Given the description of an element on the screen output the (x, y) to click on. 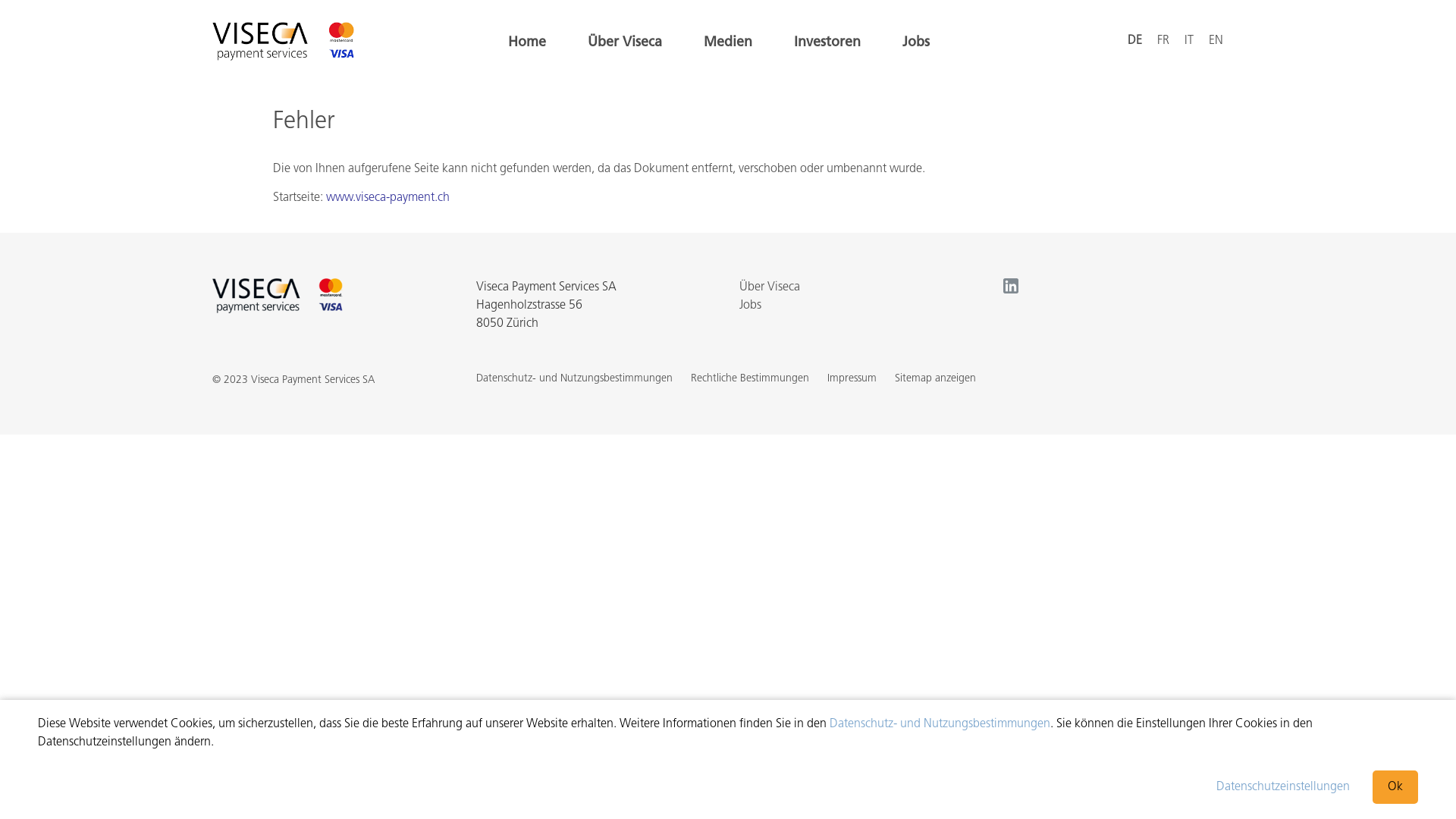
Ok Element type: text (1395, 786)
Investoren Element type: text (826, 42)
DE Element type: text (1134, 41)
Rechtliche Bestimmungen Element type: text (749, 378)
www.viseca-payment.ch Element type: text (387, 197)
Sitemap anzeigen Element type: text (934, 378)
EN Element type: text (1215, 41)
IT Element type: text (1188, 41)
Datenschutz- und Nutzungsbestimmungen Element type: text (574, 378)
FR Element type: text (1162, 41)
Datenschutz- und Nutzungsbestimmungen Element type: text (939, 724)
Jobs Element type: text (750, 305)
Jobs Element type: text (915, 42)
Home Element type: text (526, 42)
Datenschutzeinstellungen Element type: text (1282, 787)
Medien Element type: text (727, 42)
Impressum Element type: text (850, 378)
